Given the description of an element on the screen output the (x, y) to click on. 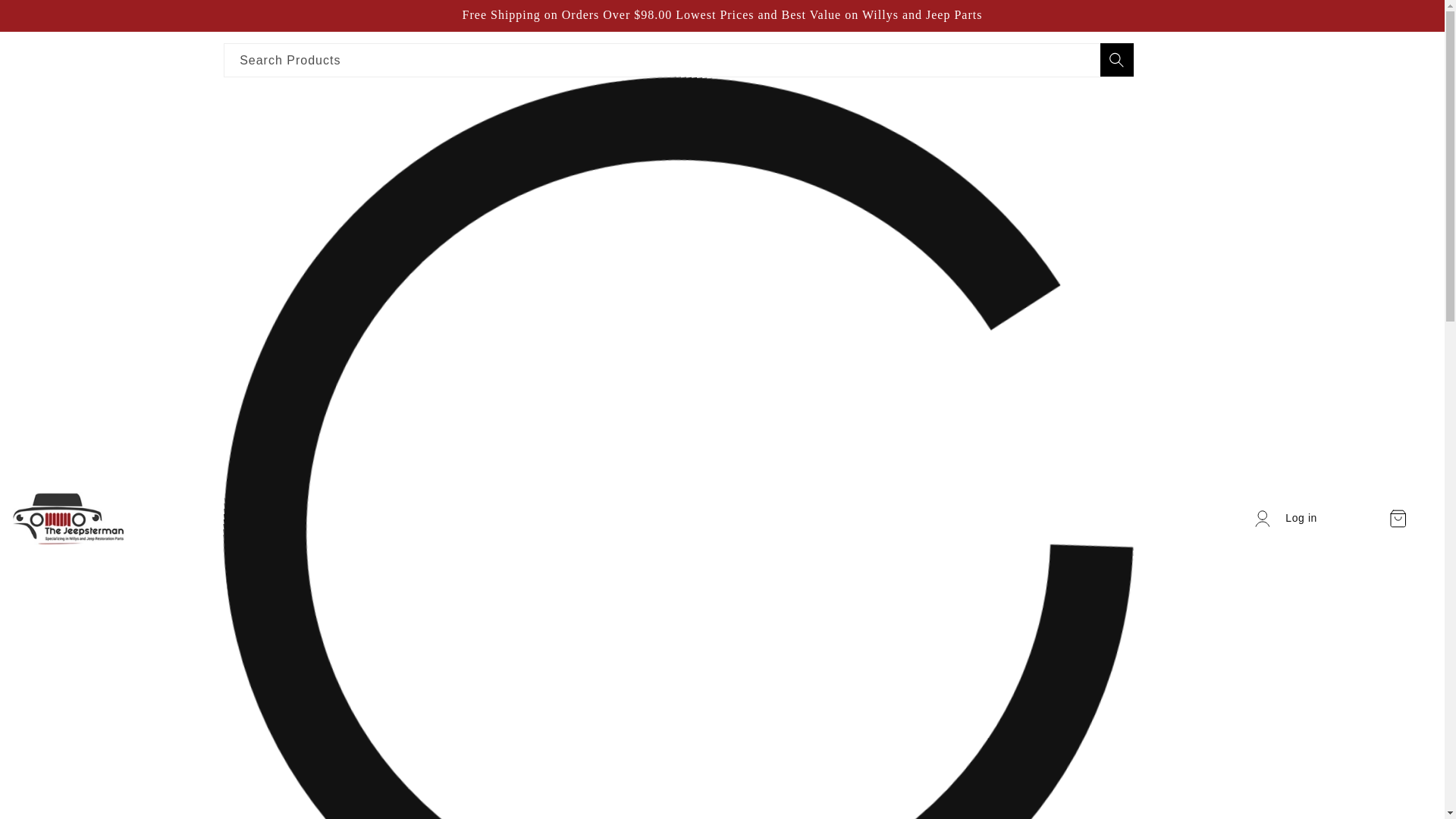
Skip to content (45, 17)
Cart (1396, 518)
Log in (1285, 518)
